Given the description of an element on the screen output the (x, y) to click on. 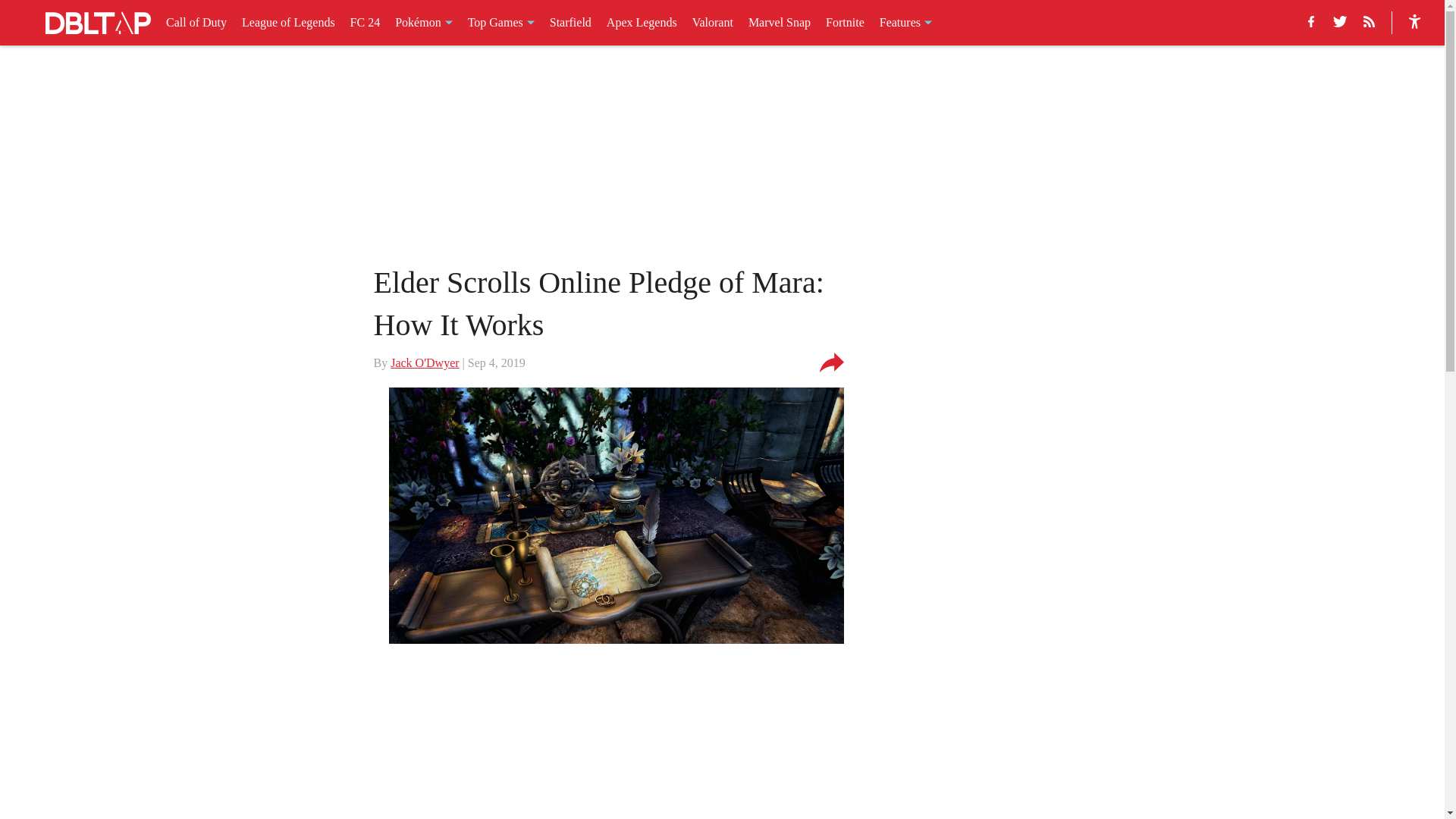
Call of Duty (196, 22)
Starfield (570, 22)
Valorant (713, 22)
Fortnite (844, 22)
League of Legends (287, 22)
Features (905, 22)
Jack O'Dwyer (424, 362)
Apex Legends (642, 22)
Top Games (500, 22)
FC 24 (365, 22)
Marvel Snap (779, 22)
